Given the description of an element on the screen output the (x, y) to click on. 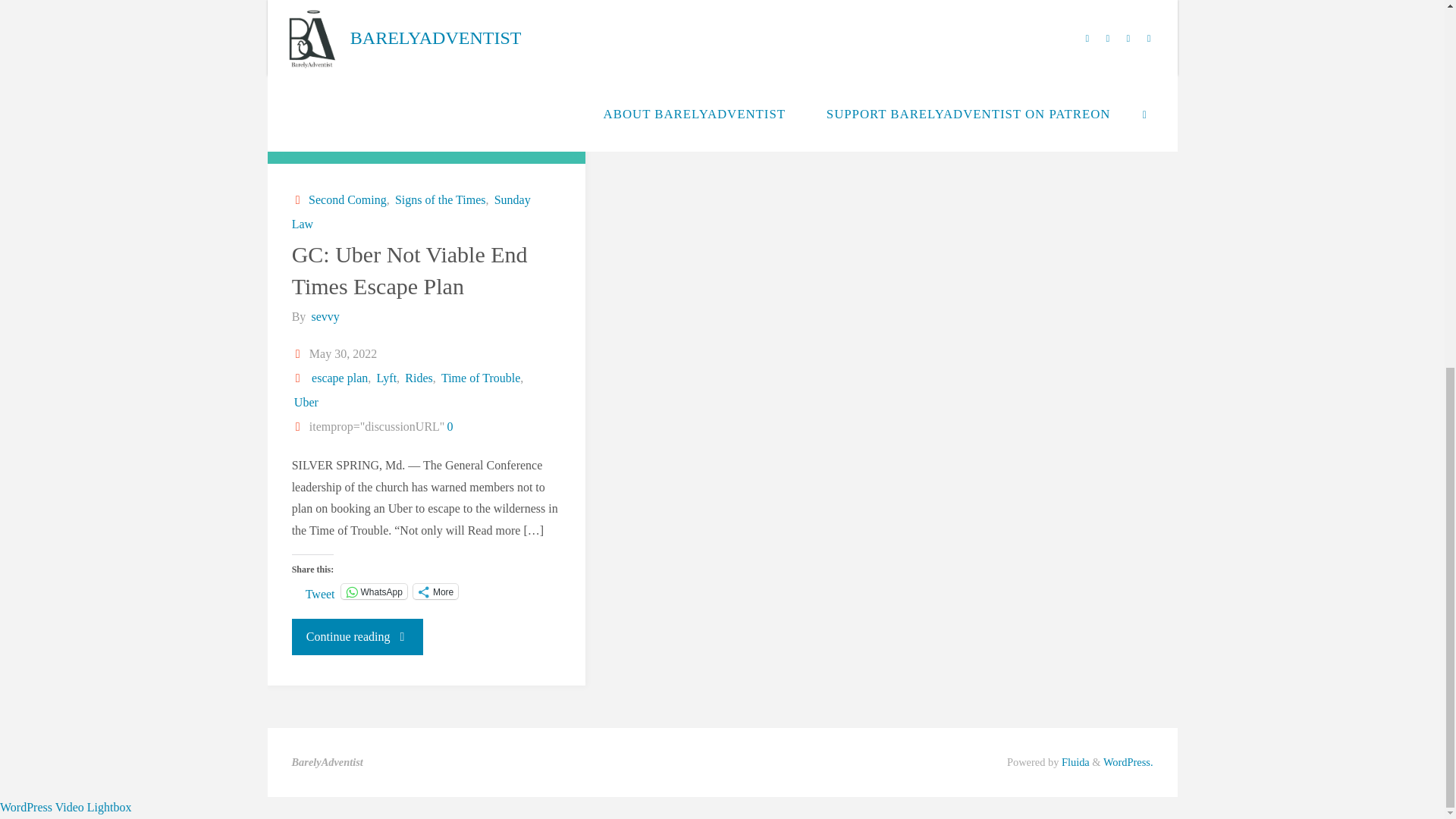
Tagged (298, 377)
sevvy (323, 316)
Sunday Law (411, 211)
escape plan (338, 377)
Tweet (319, 590)
GC: Uber Not Viable End Times Escape Plan (409, 270)
WhatsApp (373, 590)
Uber (305, 401)
Date (298, 353)
Lyft (385, 377)
